Given the description of an element on the screen output the (x, y) to click on. 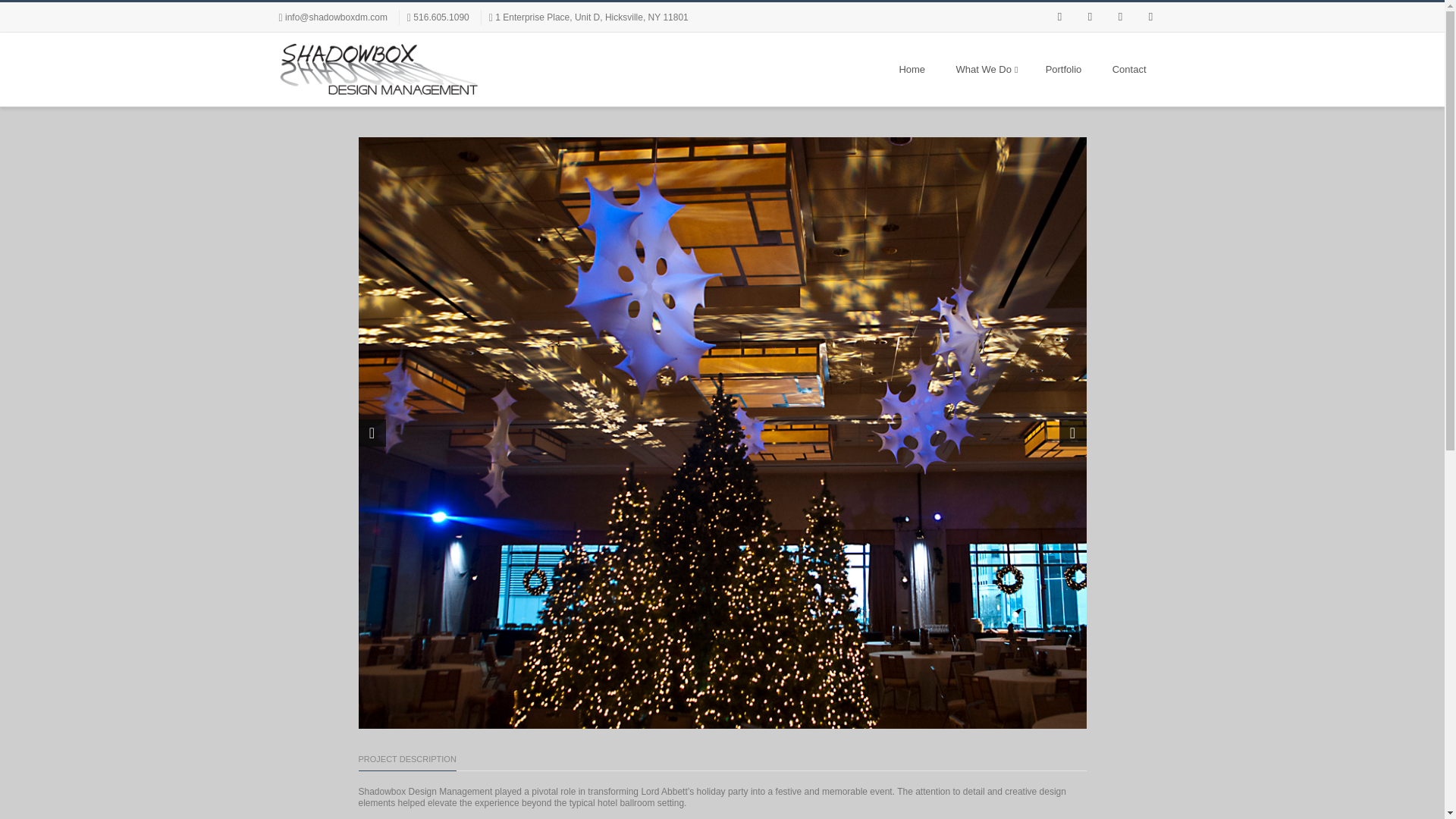
Home (912, 69)
Portfolio (1063, 69)
What We Do (984, 69)
Shadowbox Design Management, Inc. (379, 69)
Contact (1129, 69)
